Given the description of an element on the screen output the (x, y) to click on. 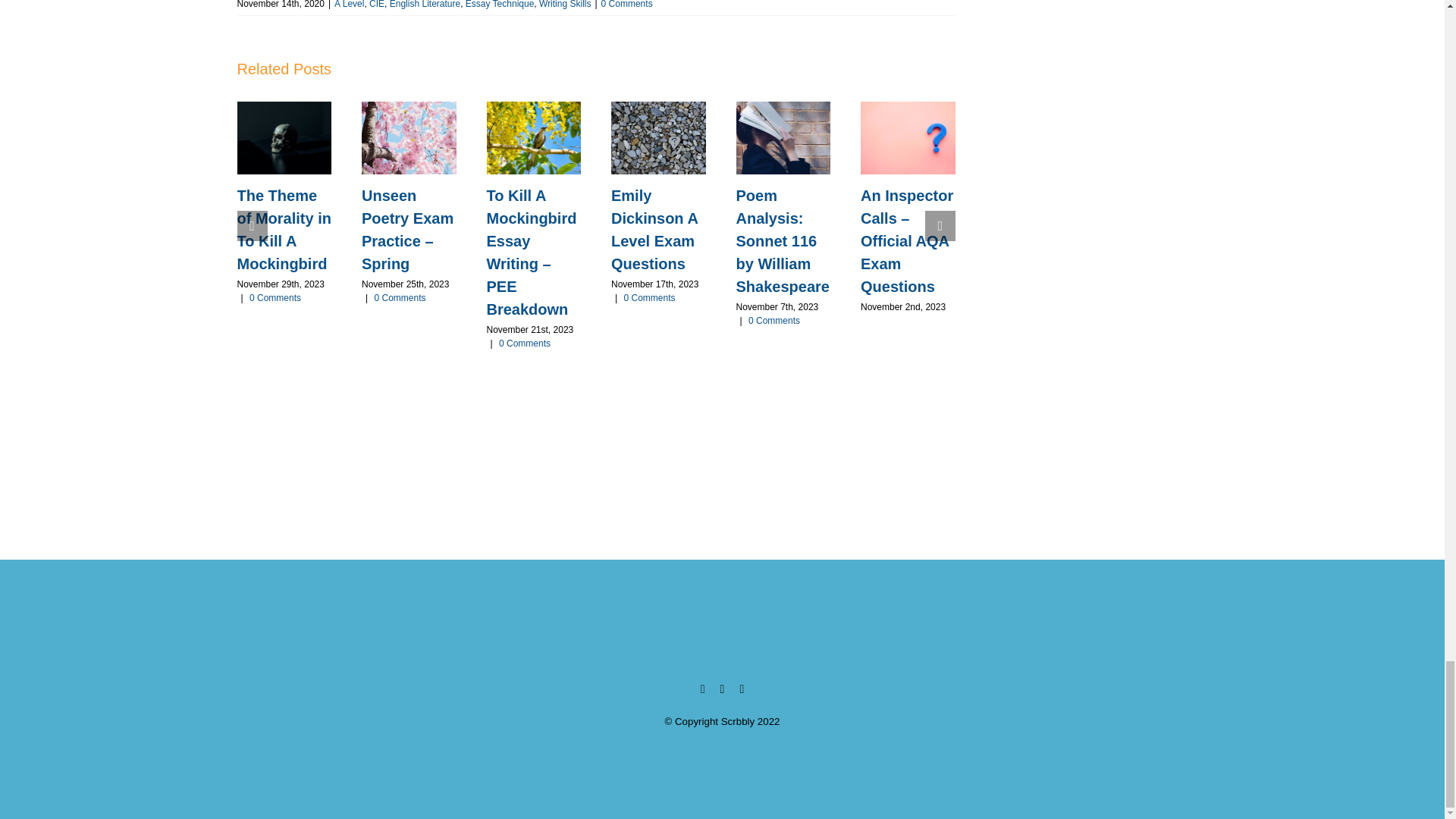
CIE (376, 4)
Writing Skills (564, 4)
English Literature (425, 4)
0 Comments (626, 4)
The Theme of Morality in To Kill A Mockingbird (282, 229)
Essay Technique (499, 4)
A Level (349, 4)
